Given the description of an element on the screen output the (x, y) to click on. 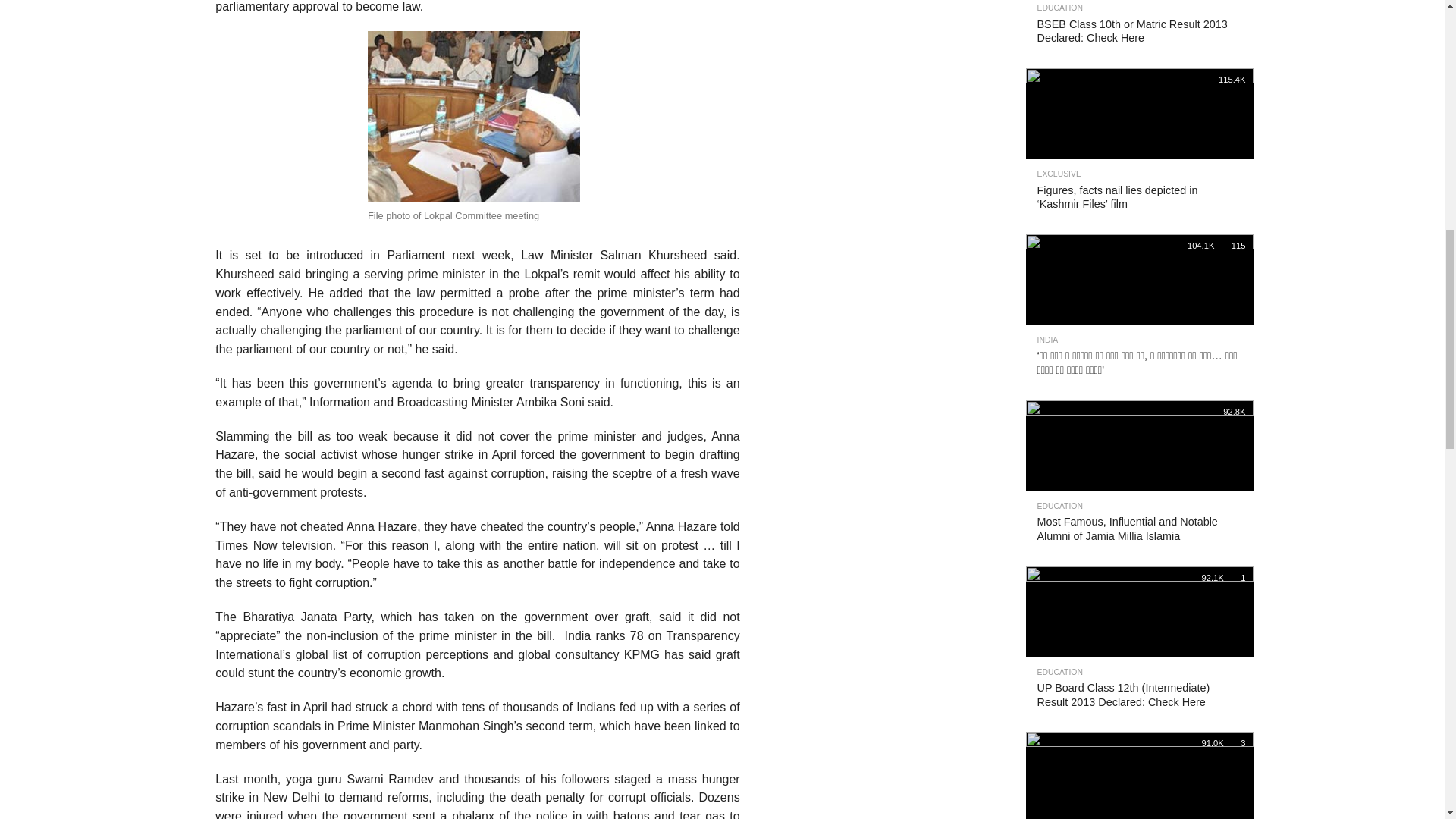
Lokpal280bv110620 - Copy (473, 116)
